Given the description of an element on the screen output the (x, y) to click on. 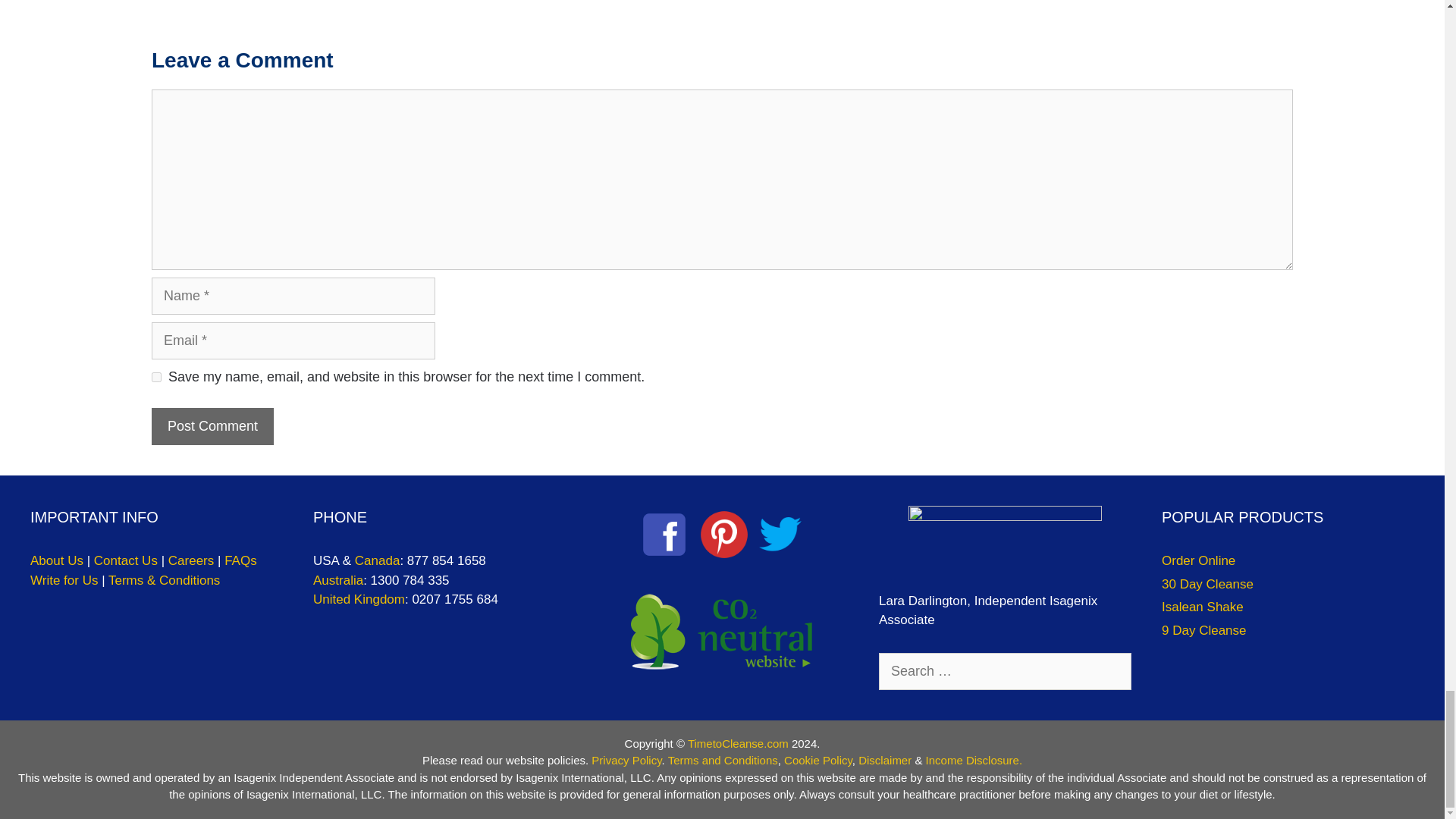
Search for: (1005, 671)
Post Comment (212, 426)
yes (156, 377)
